Given the description of an element on the screen output the (x, y) to click on. 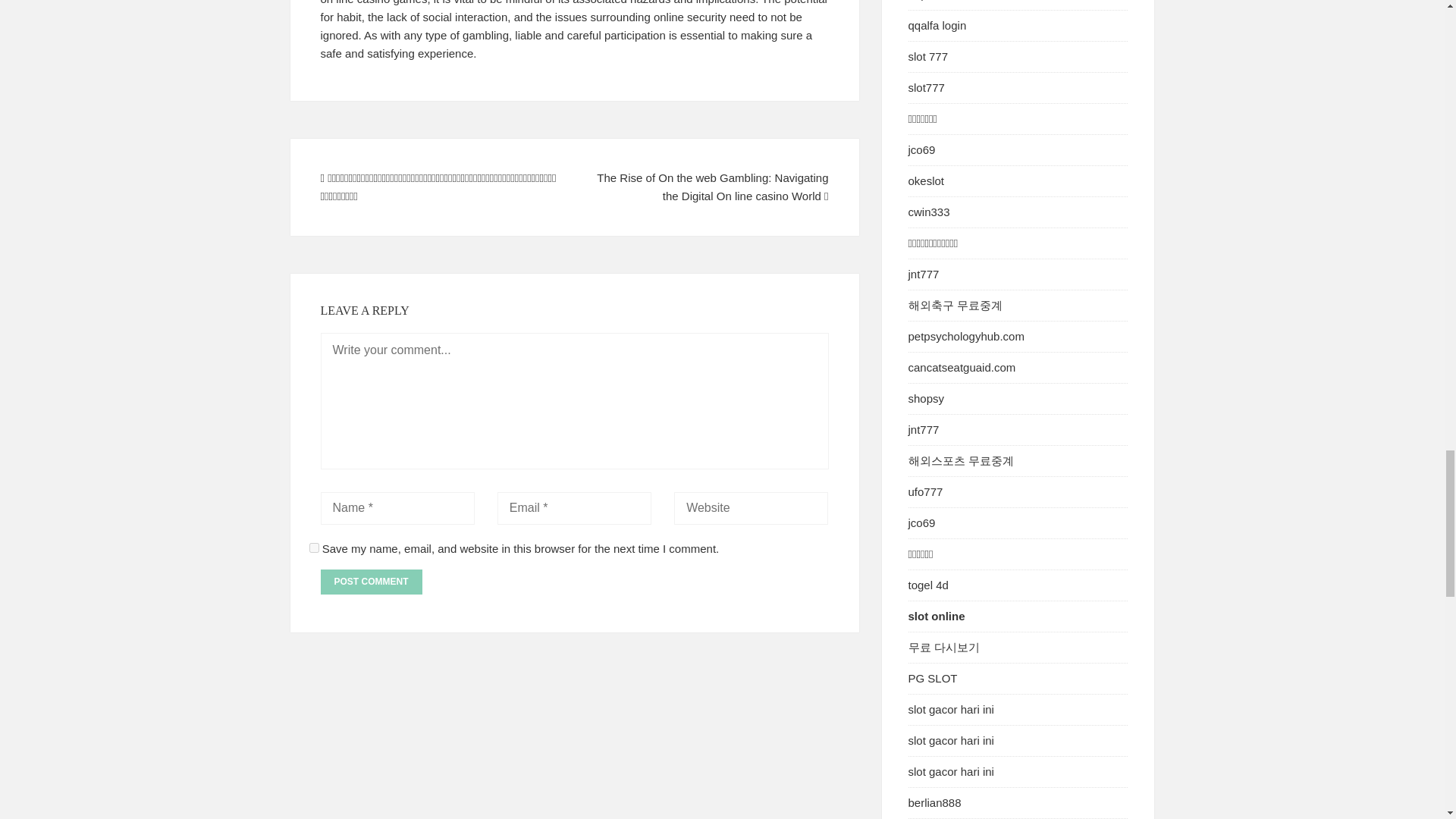
Post Comment (371, 581)
Post Comment (371, 581)
yes (313, 547)
